Given the description of an element on the screen output the (x, y) to click on. 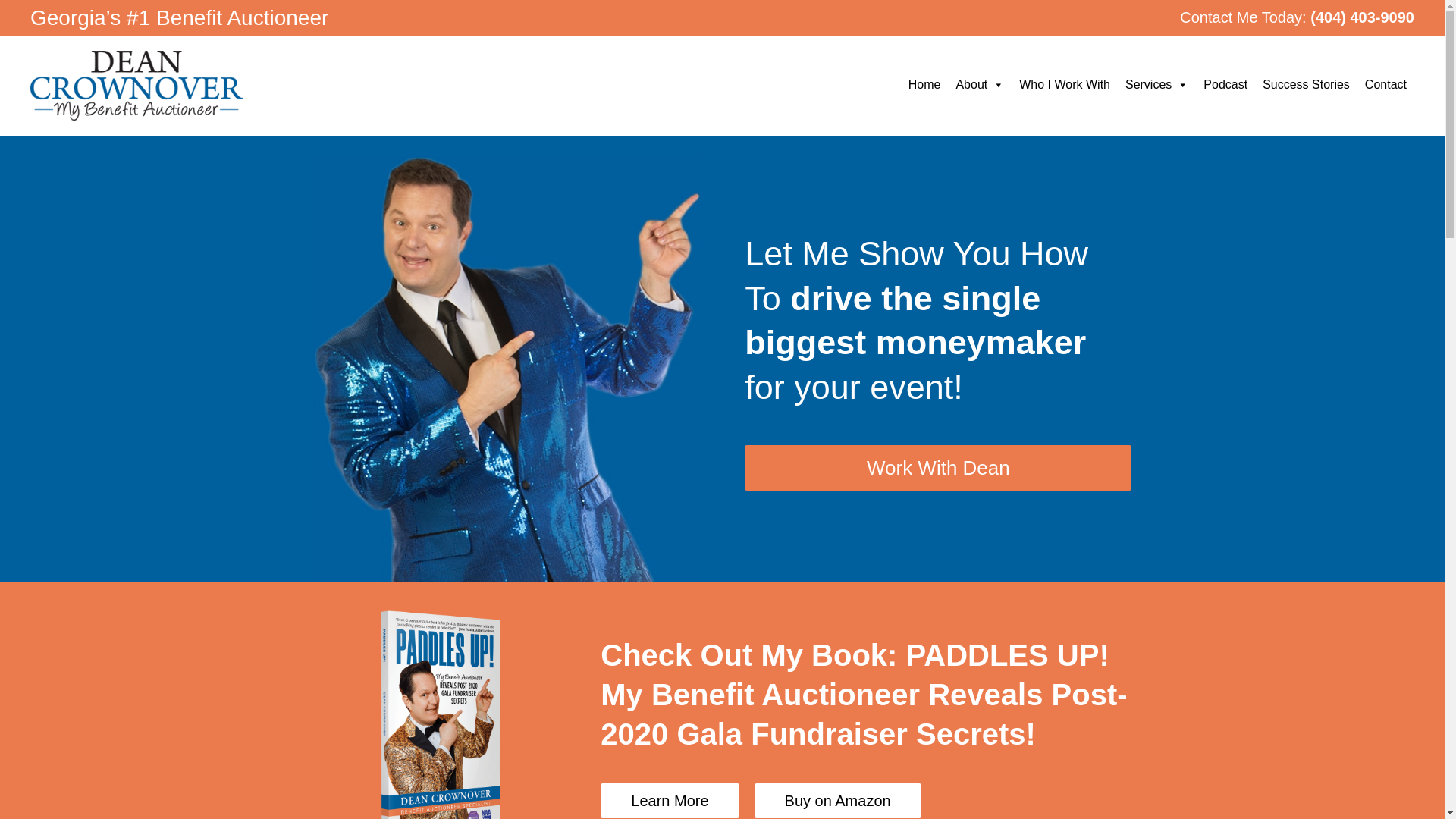
Buy on Amazon (837, 800)
Learn More (668, 800)
Success Stories (1305, 84)
Podcast (1225, 84)
Who I Work With (1064, 84)
Home (925, 84)
Work With Dean (937, 467)
Dean Crownover - My Benefit Auctioneer (136, 85)
Contact (1384, 84)
Services (1156, 84)
About (979, 84)
